Given the description of an element on the screen output the (x, y) to click on. 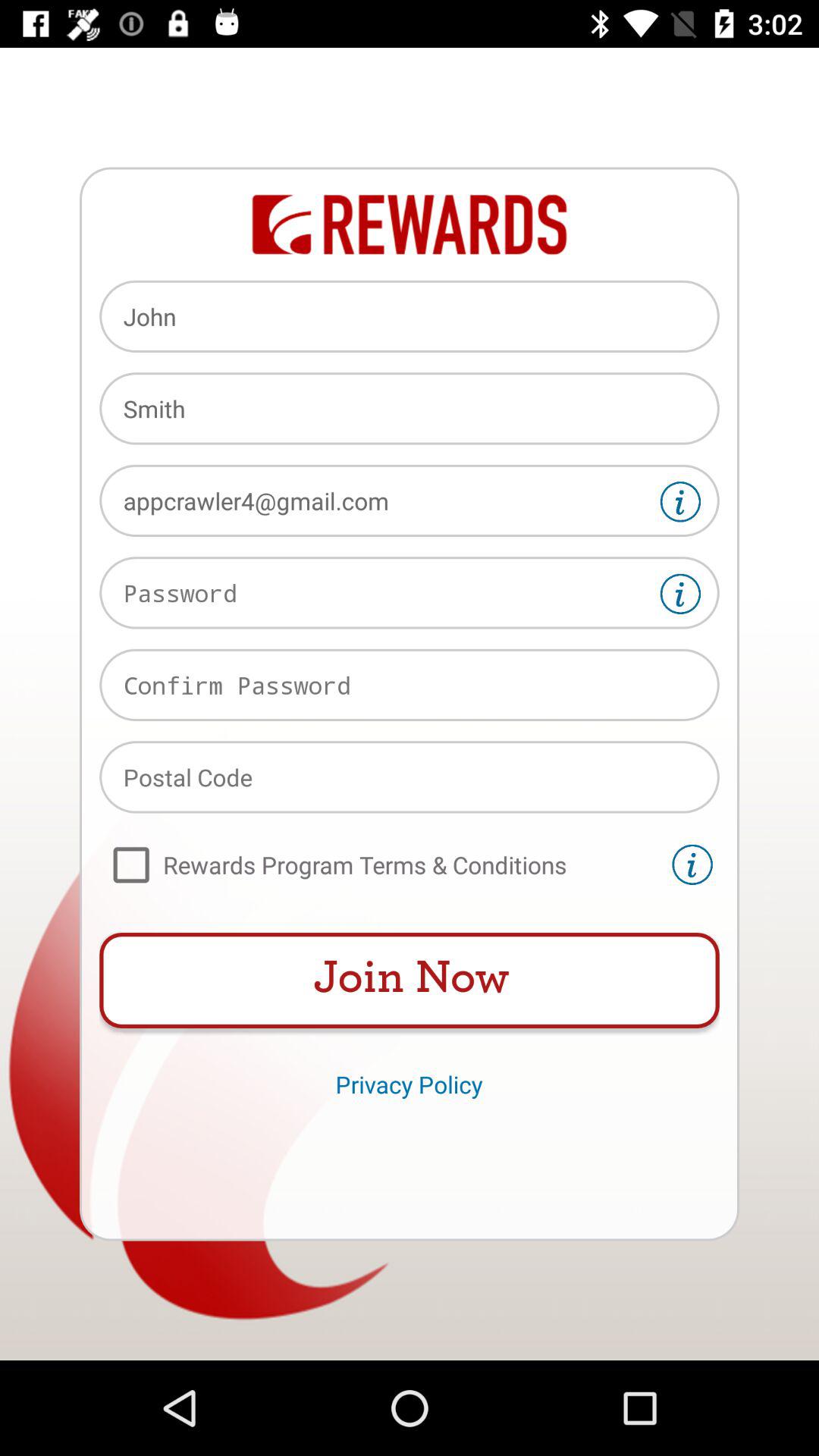
more information on password (680, 594)
